Given the description of an element on the screen output the (x, y) to click on. 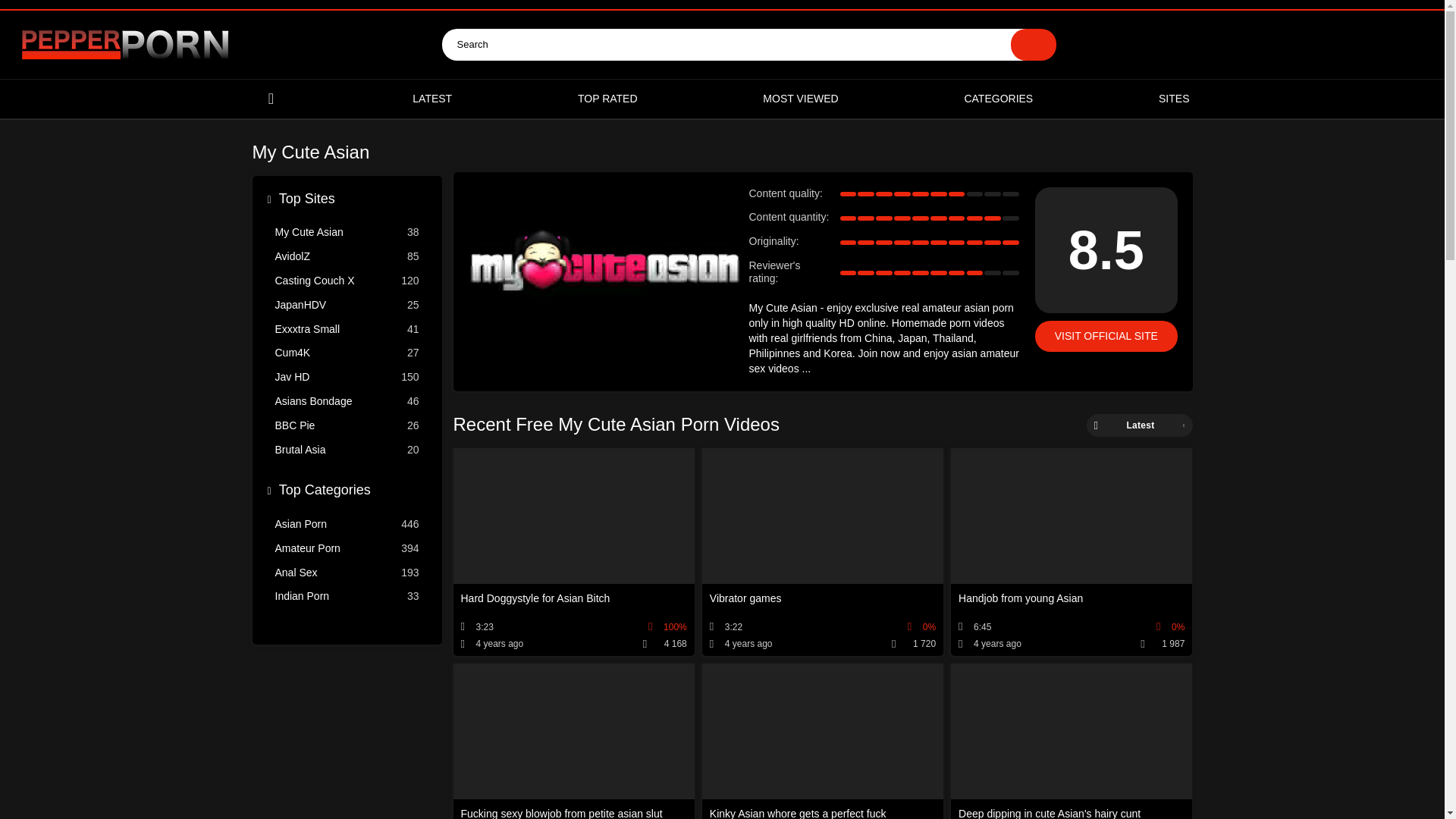
TOP RATED (607, 98)
Top Sites (347, 451)
Kinky Asian whore gets a perfect fuck (347, 427)
Deep dipping in cute Asian's hairy cunt (347, 550)
